Given the description of an element on the screen output the (x, y) to click on. 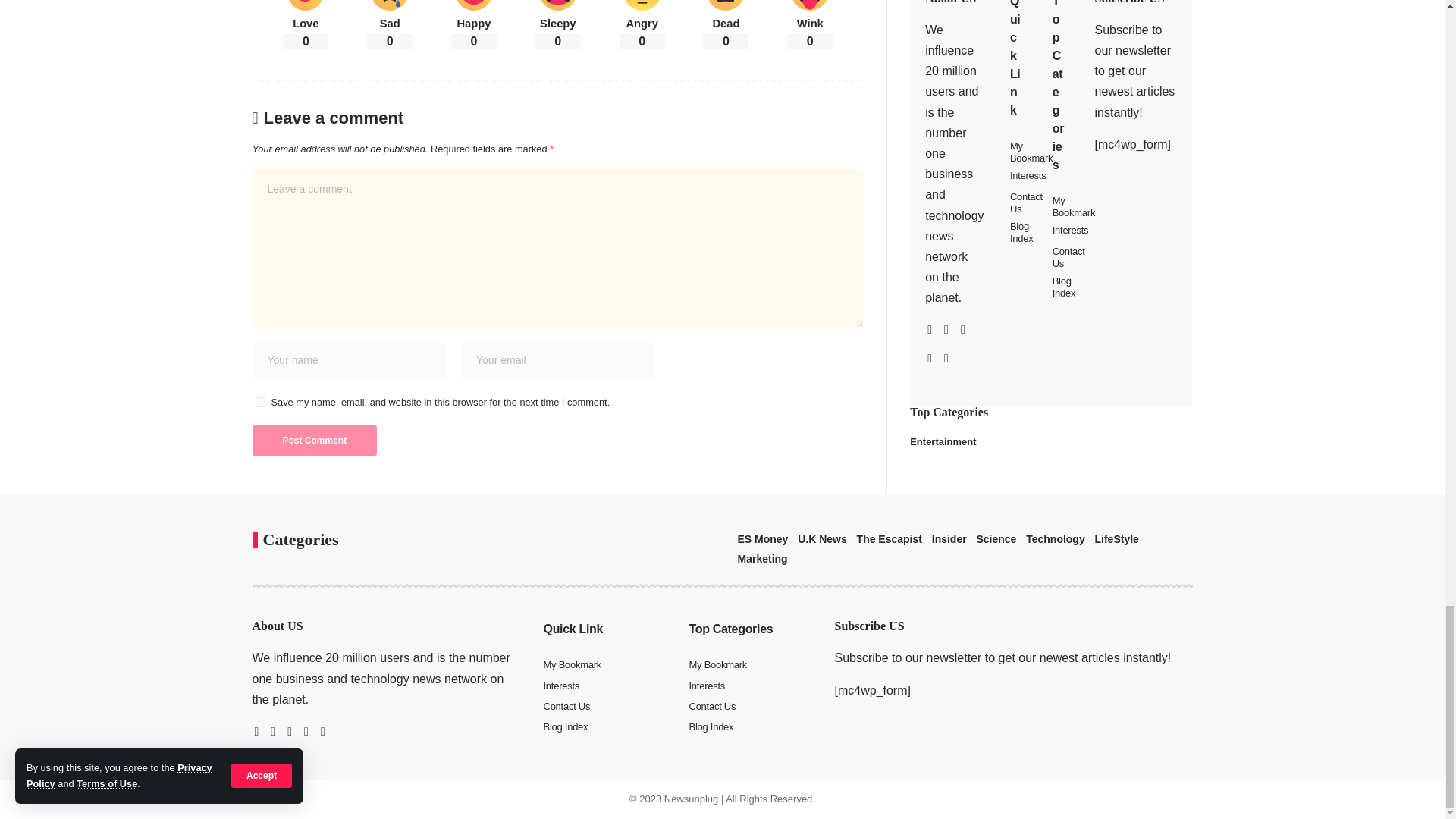
yes (259, 402)
Post Comment (314, 440)
